Given the description of an element on the screen output the (x, y) to click on. 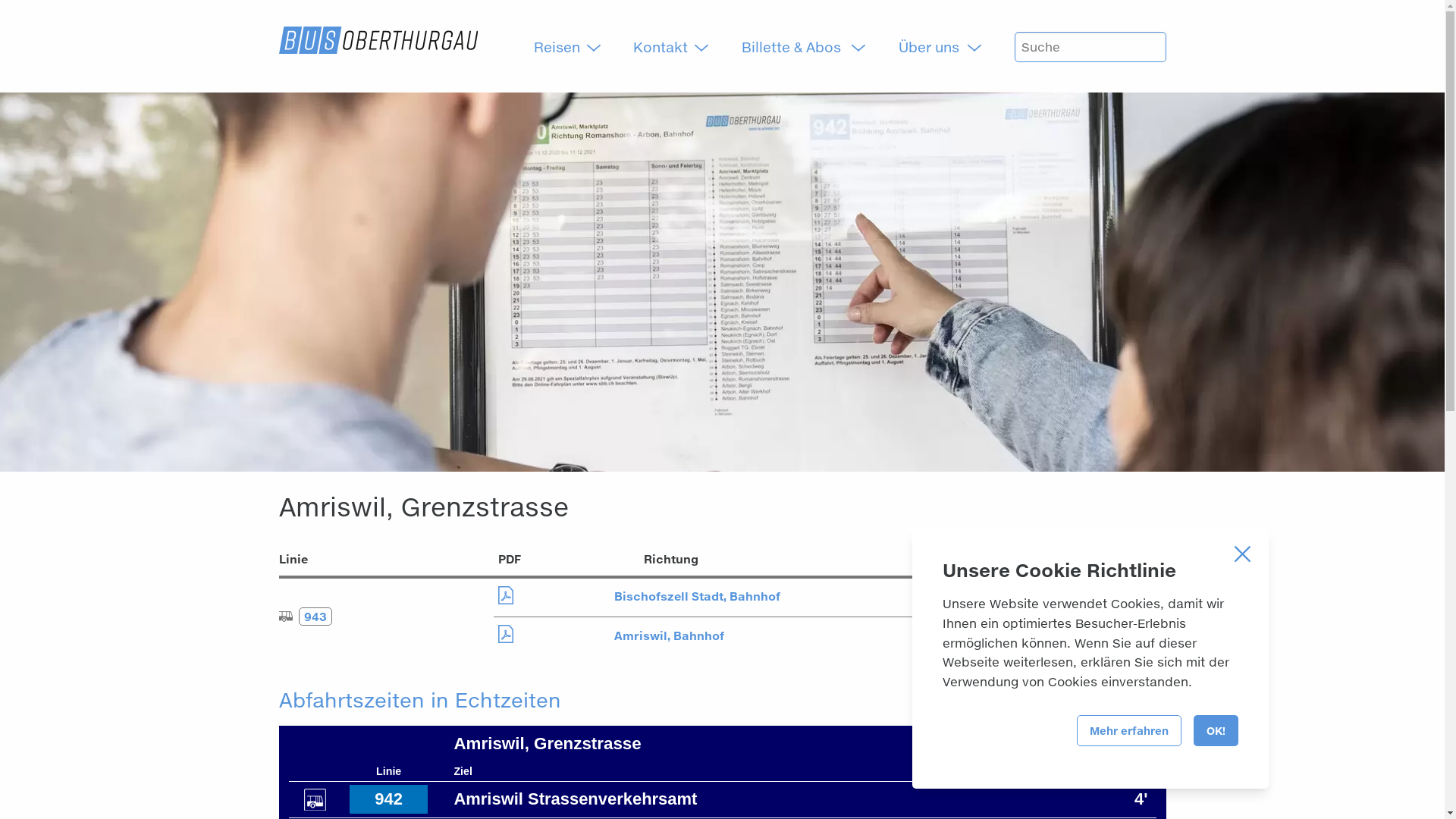
Amriswil, Bahnhof Element type: text (669, 635)
Kontakt Element type: text (664, 46)
943 Element type: text (305, 616)
Billette & Abos Element type: text (797, 46)
Bischofszell Stadt, Bahnhof Element type: text (697, 596)
Download PDF Element type: hover (505, 595)
Mehr erfahren Element type: text (1128, 730)
Reisen Element type: text (560, 46)
Download PDF Element type: hover (505, 633)
OK! Element type: text (1215, 730)
